Given the description of an element on the screen output the (x, y) to click on. 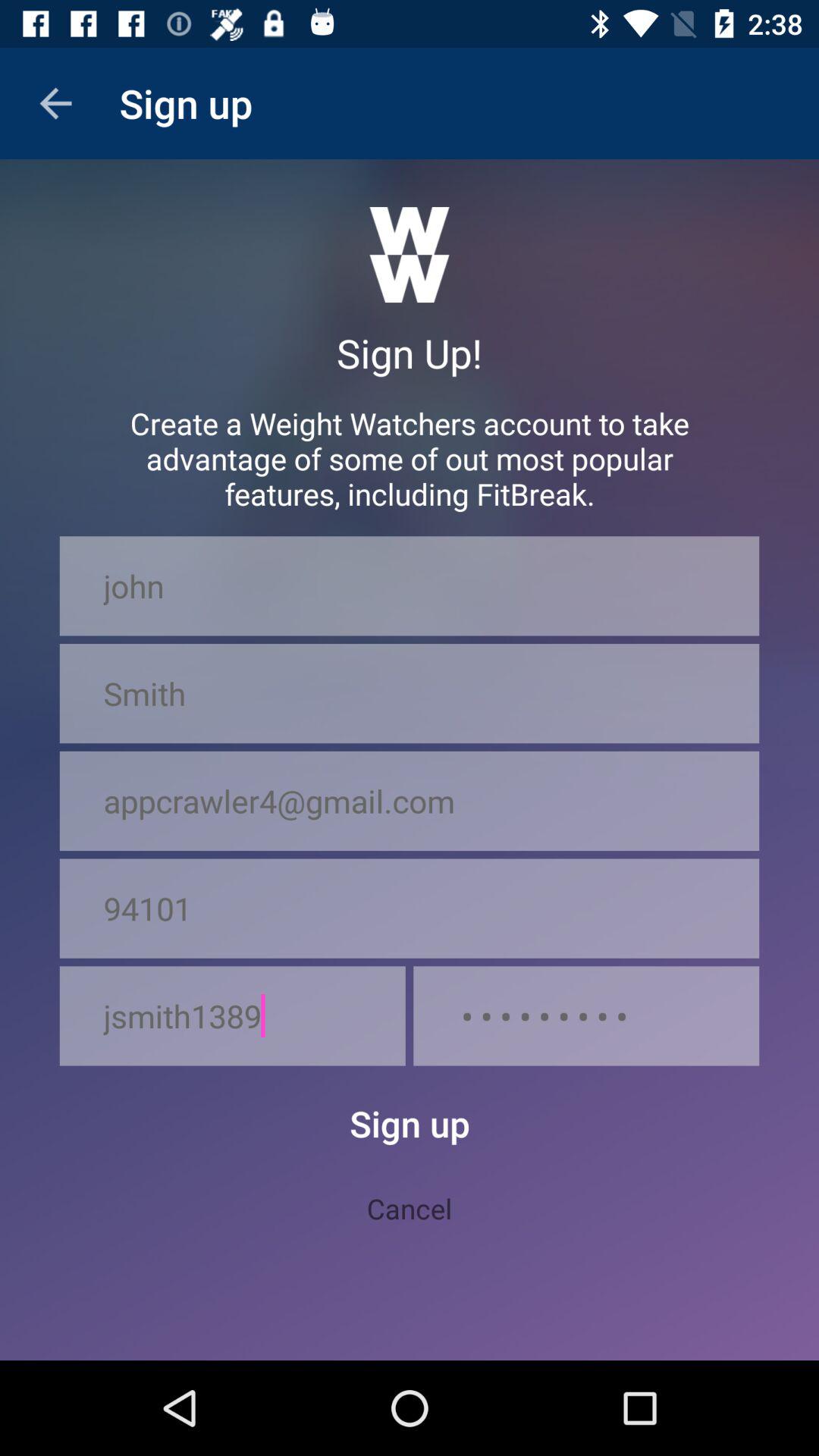
choose the item next to the crowd3116 icon (232, 1015)
